Given the description of an element on the screen output the (x, y) to click on. 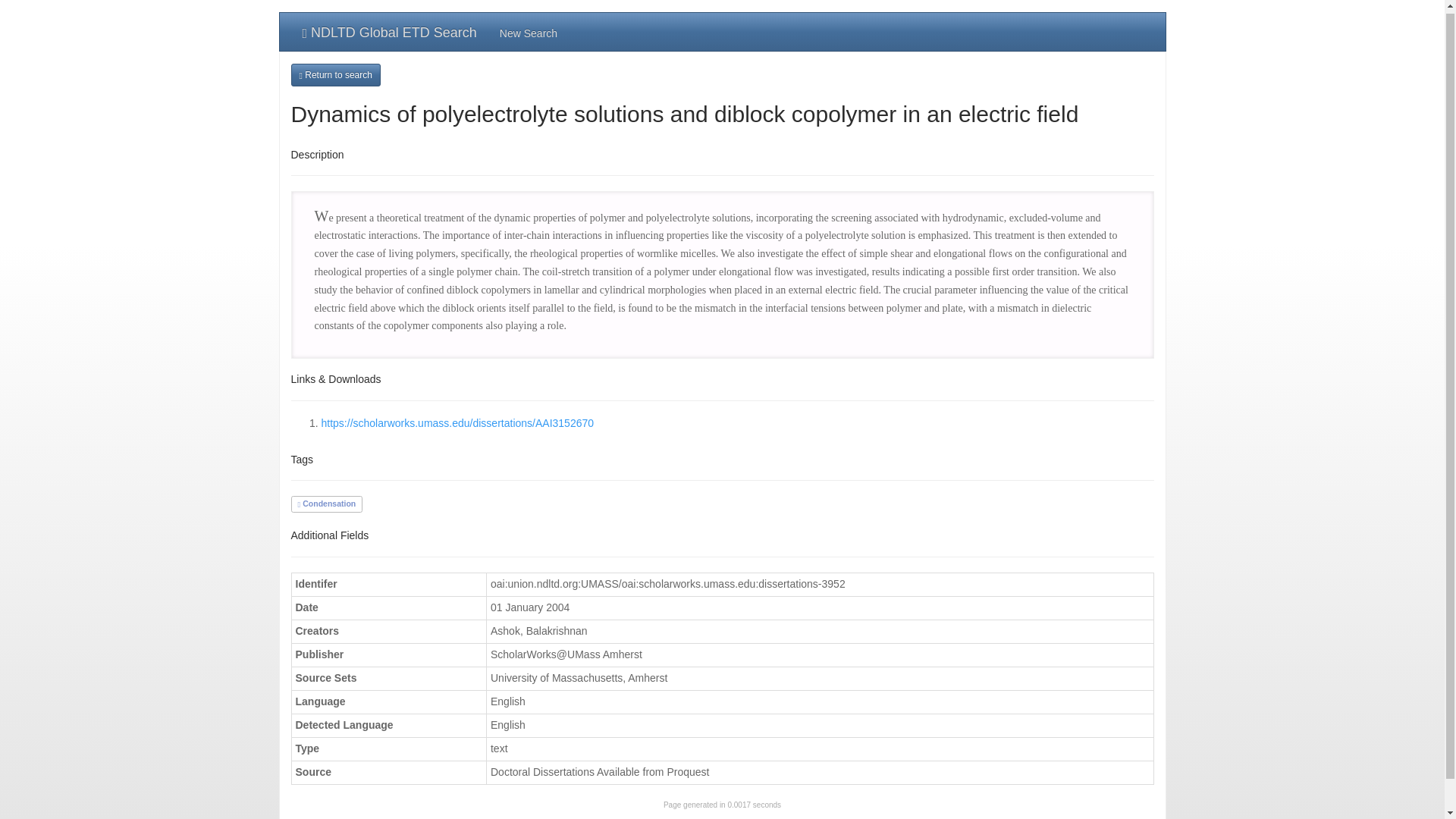
New Search (528, 31)
NDLTD Global ETD Search (389, 31)
Return to search (335, 74)
Condensation (326, 502)
